Given the description of an element on the screen output the (x, y) to click on. 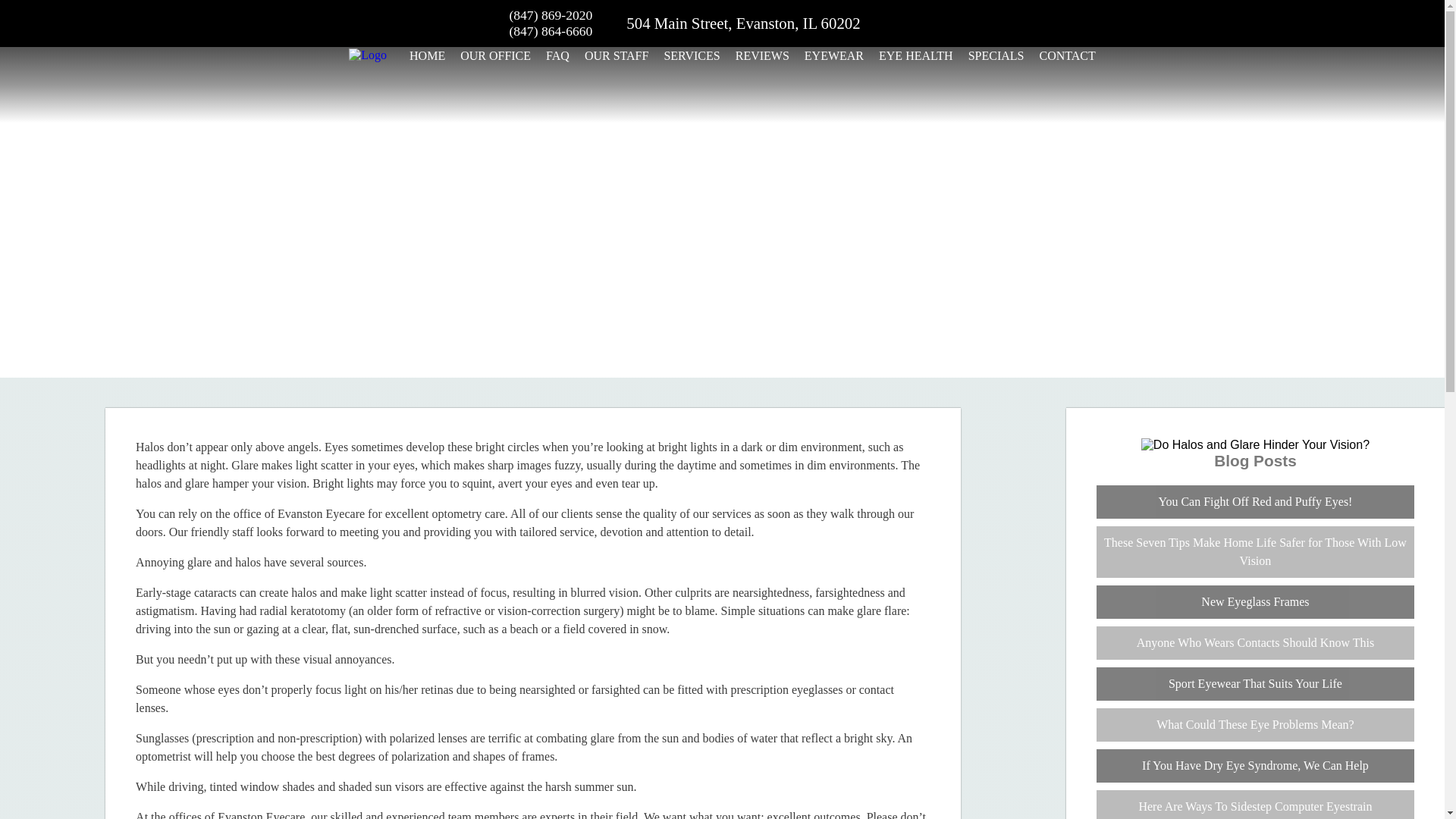
You Can Fight Off Red and Puffy Eyes! (1254, 501)
Sport Eyewear That Suits Your Life (1254, 684)
Here Are Ways To Sidestep Computer Eyestrain (1254, 804)
Anyone Who Wears Contacts Should Know This (1254, 643)
What Could These Eye Problems Mean? (1254, 725)
New Eyeglass Frames (1254, 602)
If You Have Dry Eye Syndrome, We Can Help (1254, 765)
